Given the description of an element on the screen output the (x, y) to click on. 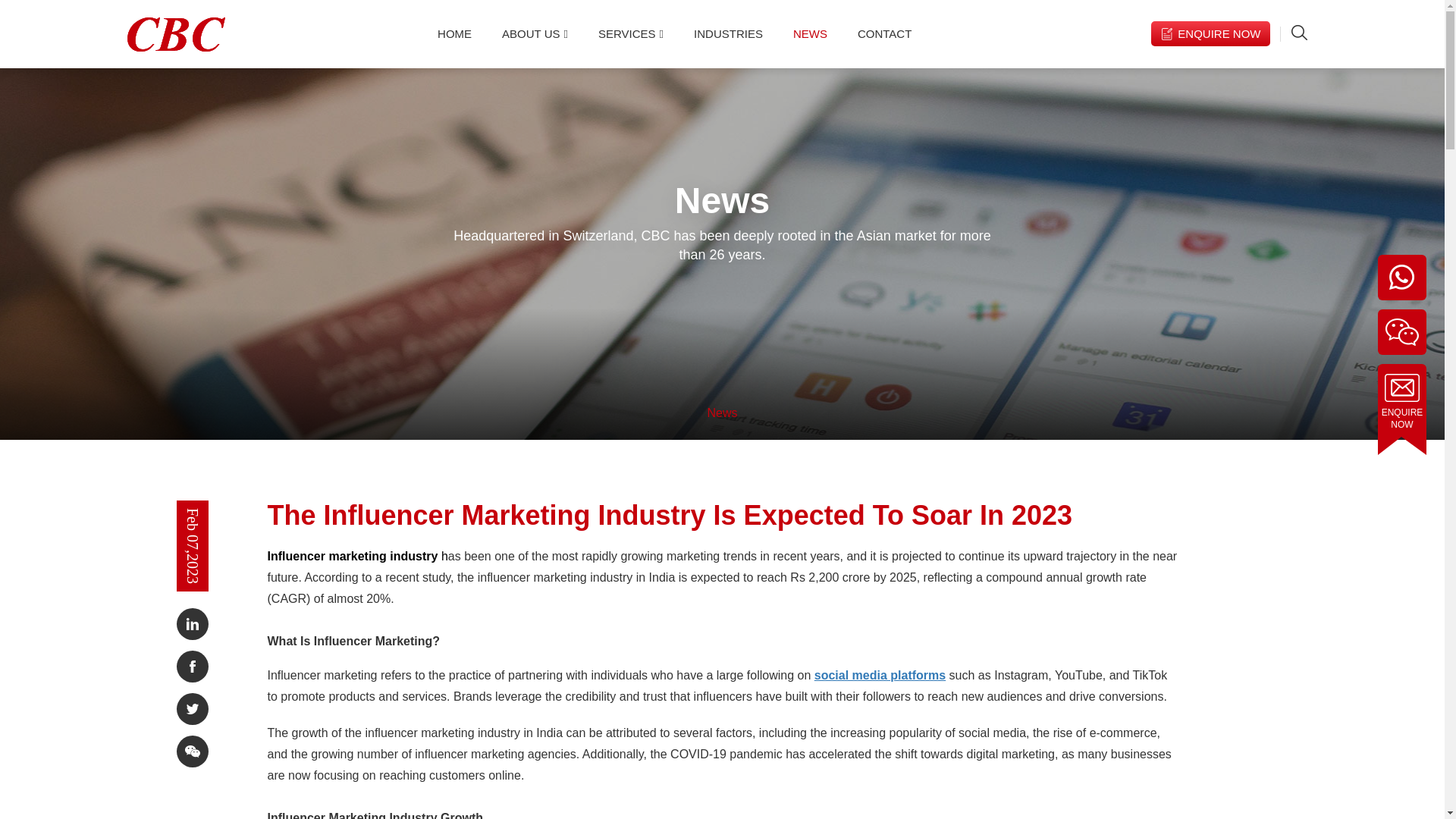
CONTACT (884, 33)
News (721, 412)
News (721, 412)
ENQUIRE NOW (1210, 33)
social media platforms (878, 675)
Services (631, 33)
Industries (727, 33)
About Us (535, 33)
INDUSTRIES (727, 33)
SERVICES (631, 33)
